Given the description of an element on the screen output the (x, y) to click on. 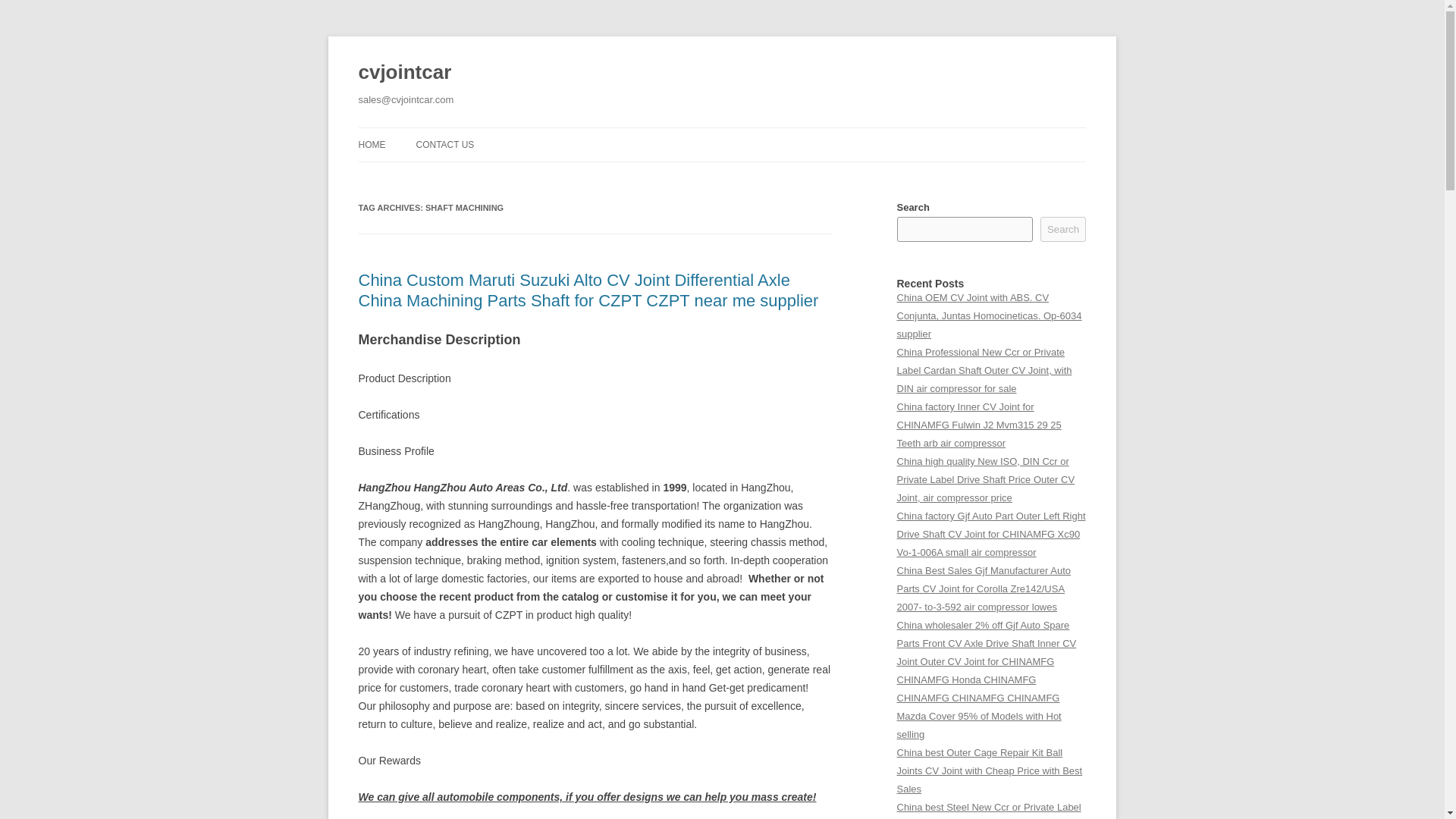
CONTACT US (444, 144)
cvjointcar (404, 72)
cvjointcar (404, 72)
Search (1063, 229)
